Given the description of an element on the screen output the (x, y) to click on. 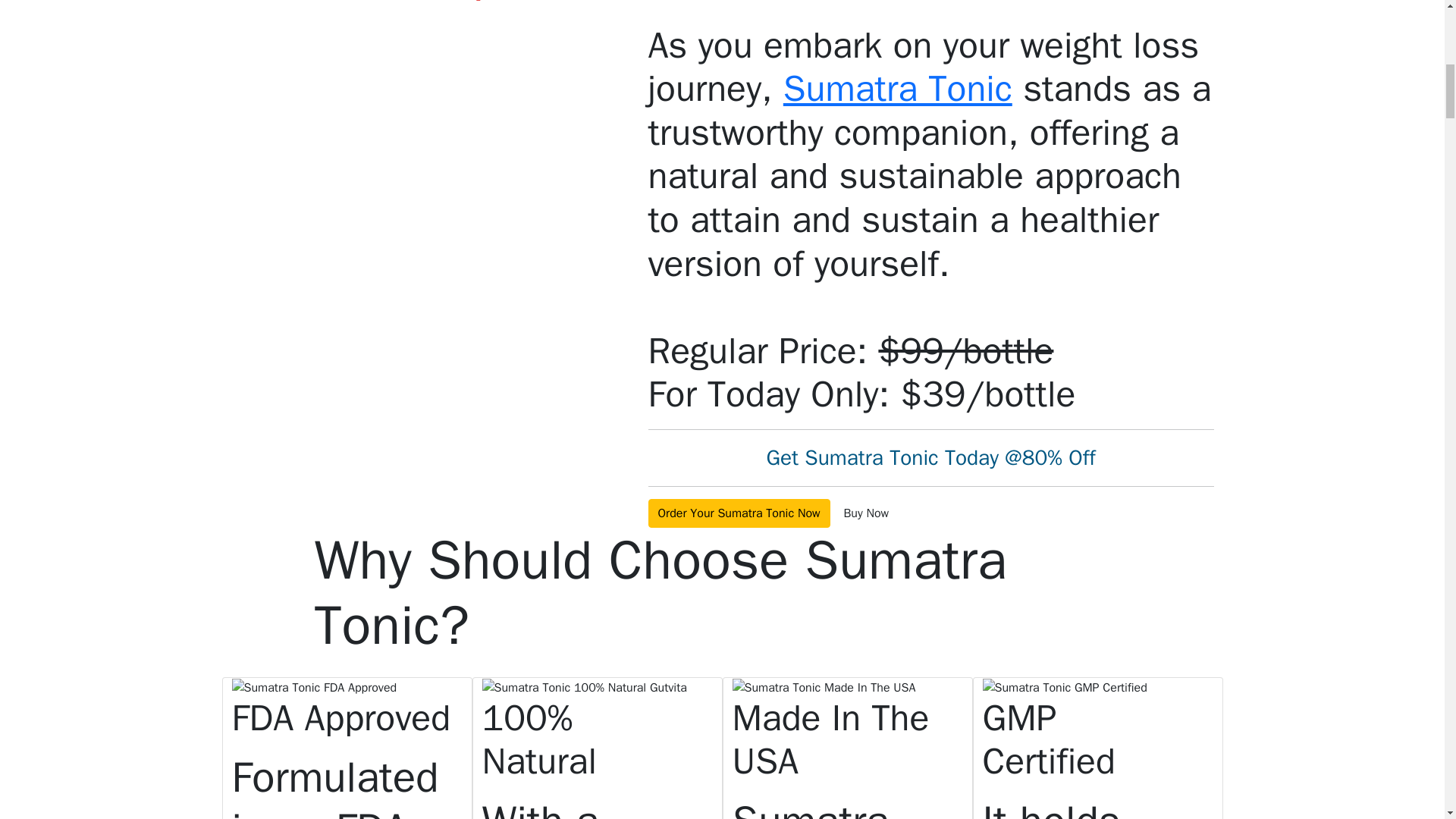
Sumatra Tonic (897, 88)
Order Your Sumatra Tonic Now (738, 512)
Buy Now (865, 512)
